Given the description of an element on the screen output the (x, y) to click on. 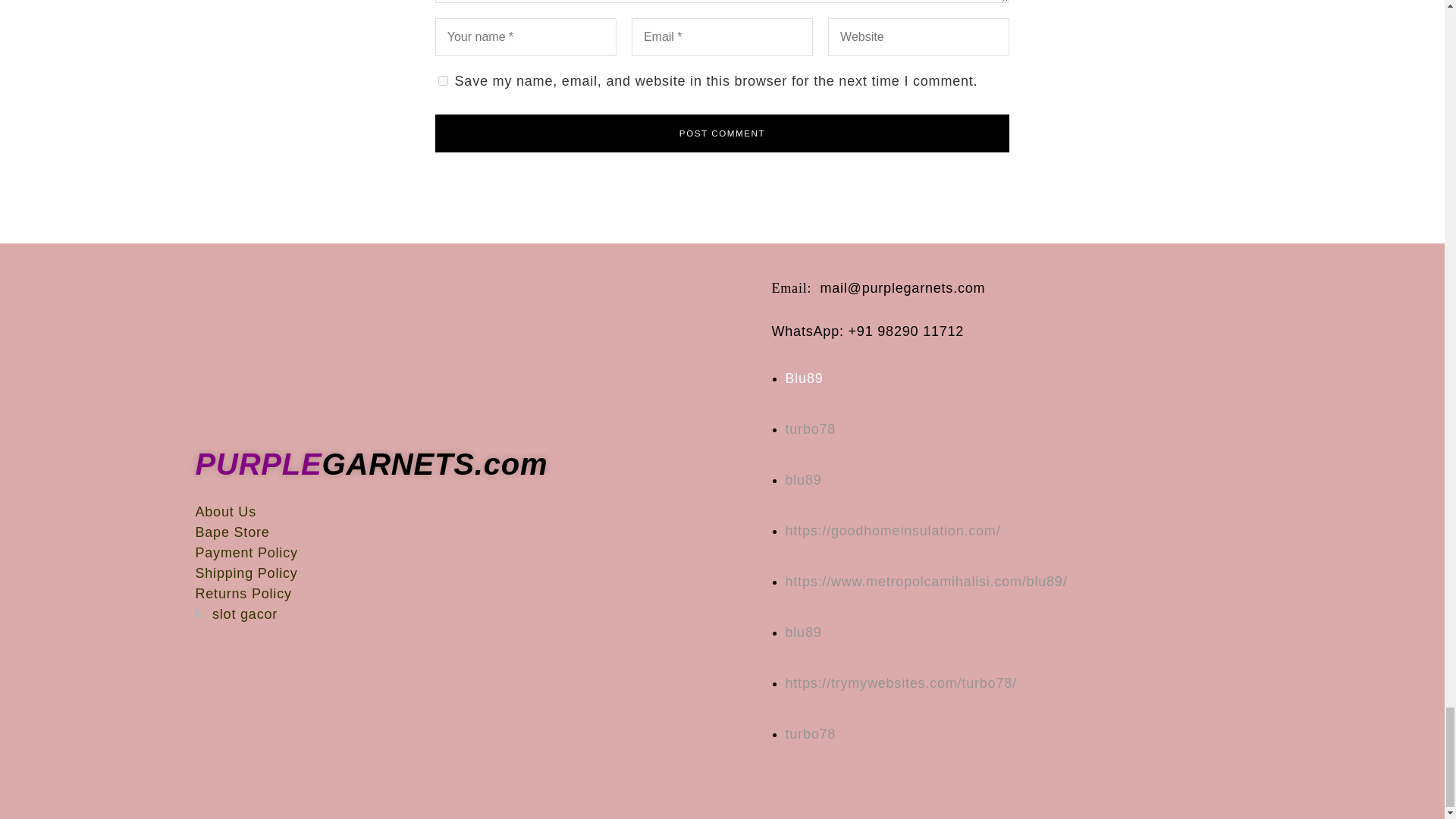
blu89 (804, 479)
About Us (476, 512)
blu89 (893, 530)
Post Comment (722, 133)
Bape Store (476, 532)
blu89 (926, 581)
turbo78 (810, 428)
turbo78 (810, 734)
turbo78 (901, 683)
blu89 (804, 631)
Payment Policy (476, 552)
Post Comment (722, 133)
yes (443, 80)
